Given the description of an element on the screen output the (x, y) to click on. 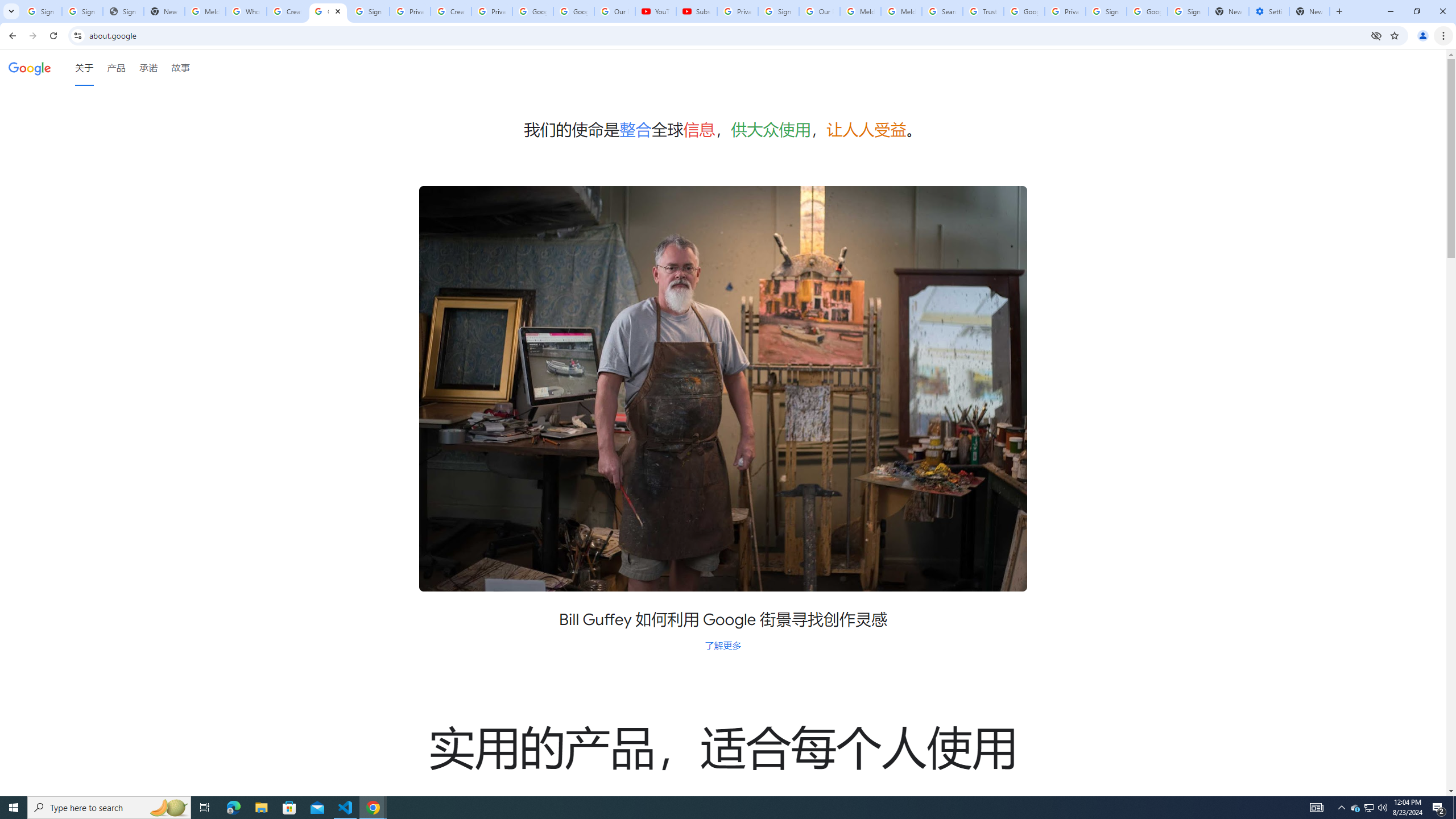
Sign In - USA TODAY (122, 11)
Settings - Addresses and more (1268, 11)
Google (29, 67)
Create your Google Account (287, 11)
